Given the description of an element on the screen output the (x, y) to click on. 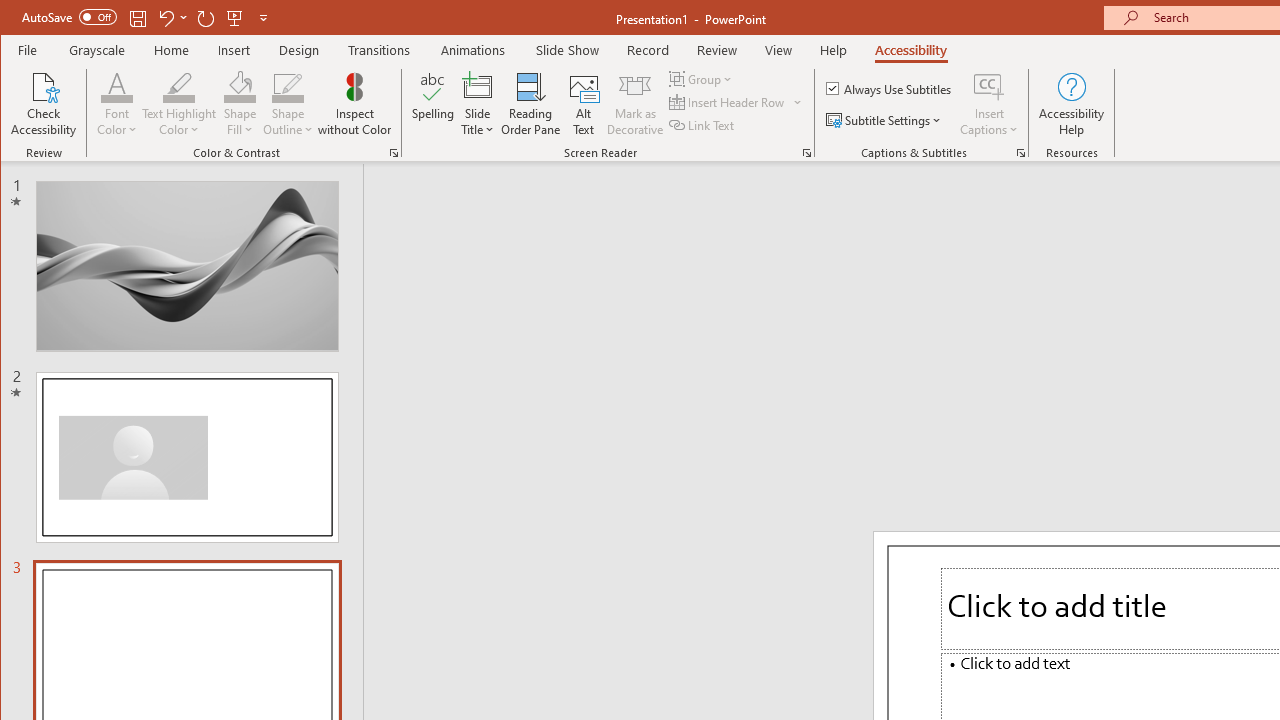
Reading Order Pane (531, 104)
Always Use Subtitles (890, 88)
